Given the description of an element on the screen output the (x, y) to click on. 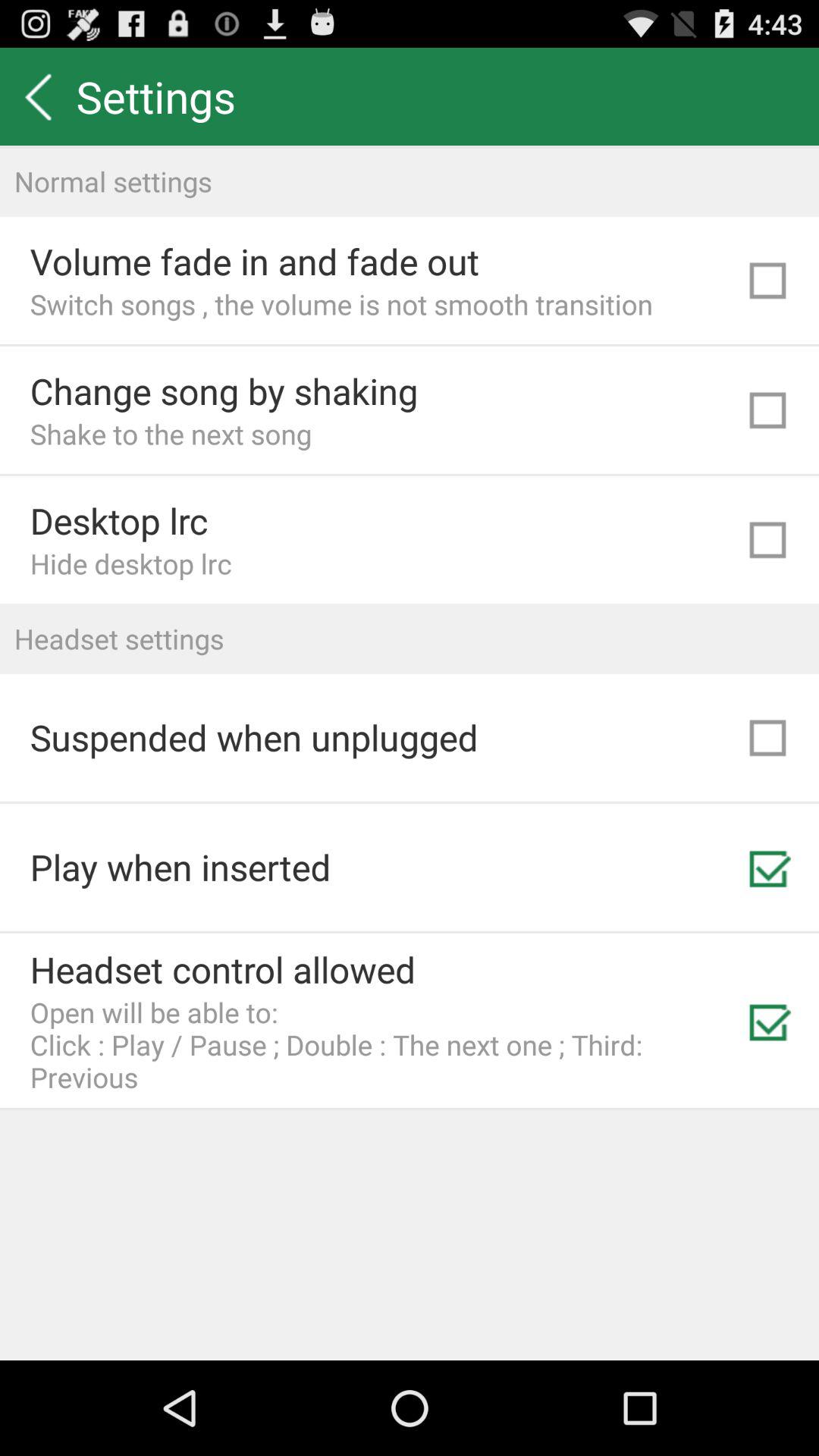
press the headset settings icon (409, 638)
